Given the description of an element on the screen output the (x, y) to click on. 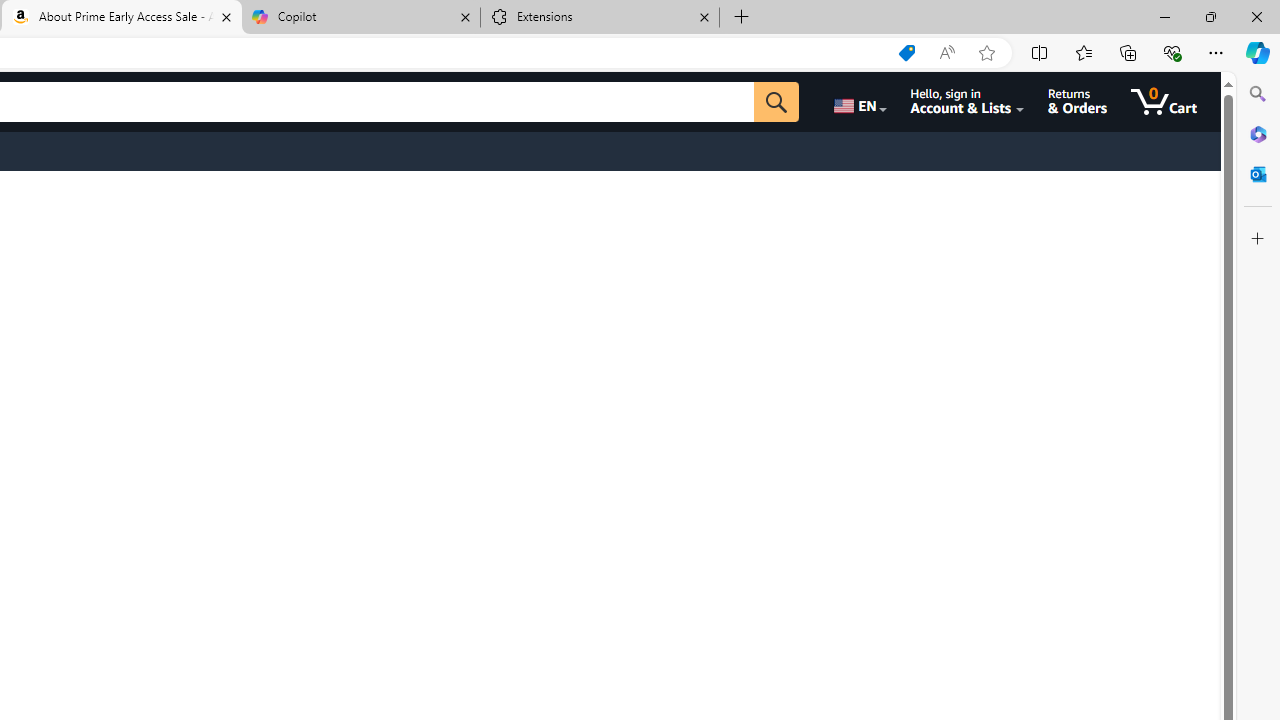
Extensions (600, 17)
Returns & Orders (1077, 101)
0 items in cart (1163, 101)
Copilot (360, 17)
